Given the description of an element on the screen output the (x, y) to click on. 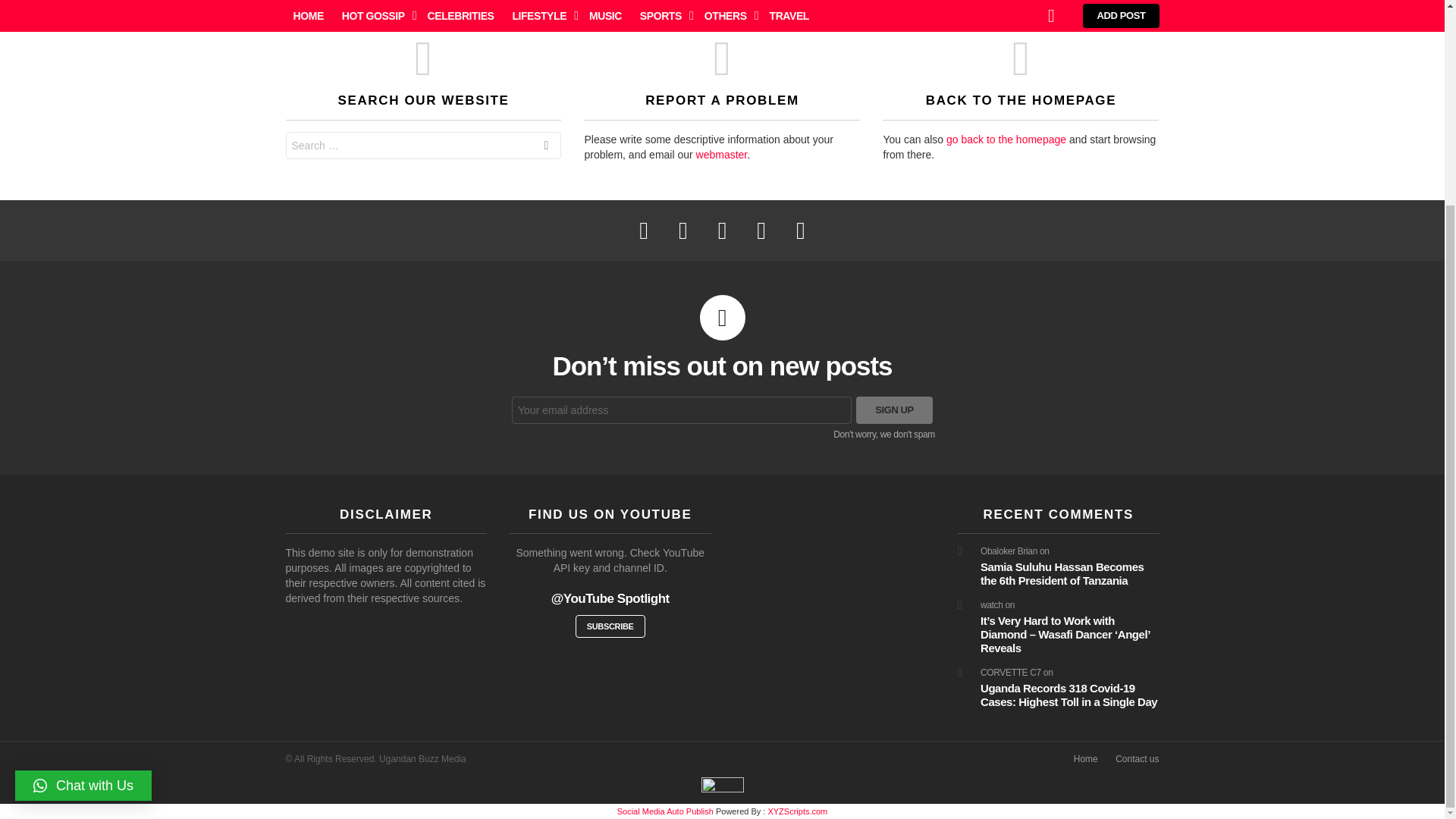
Search for: (422, 144)
Sign up (894, 410)
